Given the description of an element on the screen output the (x, y) to click on. 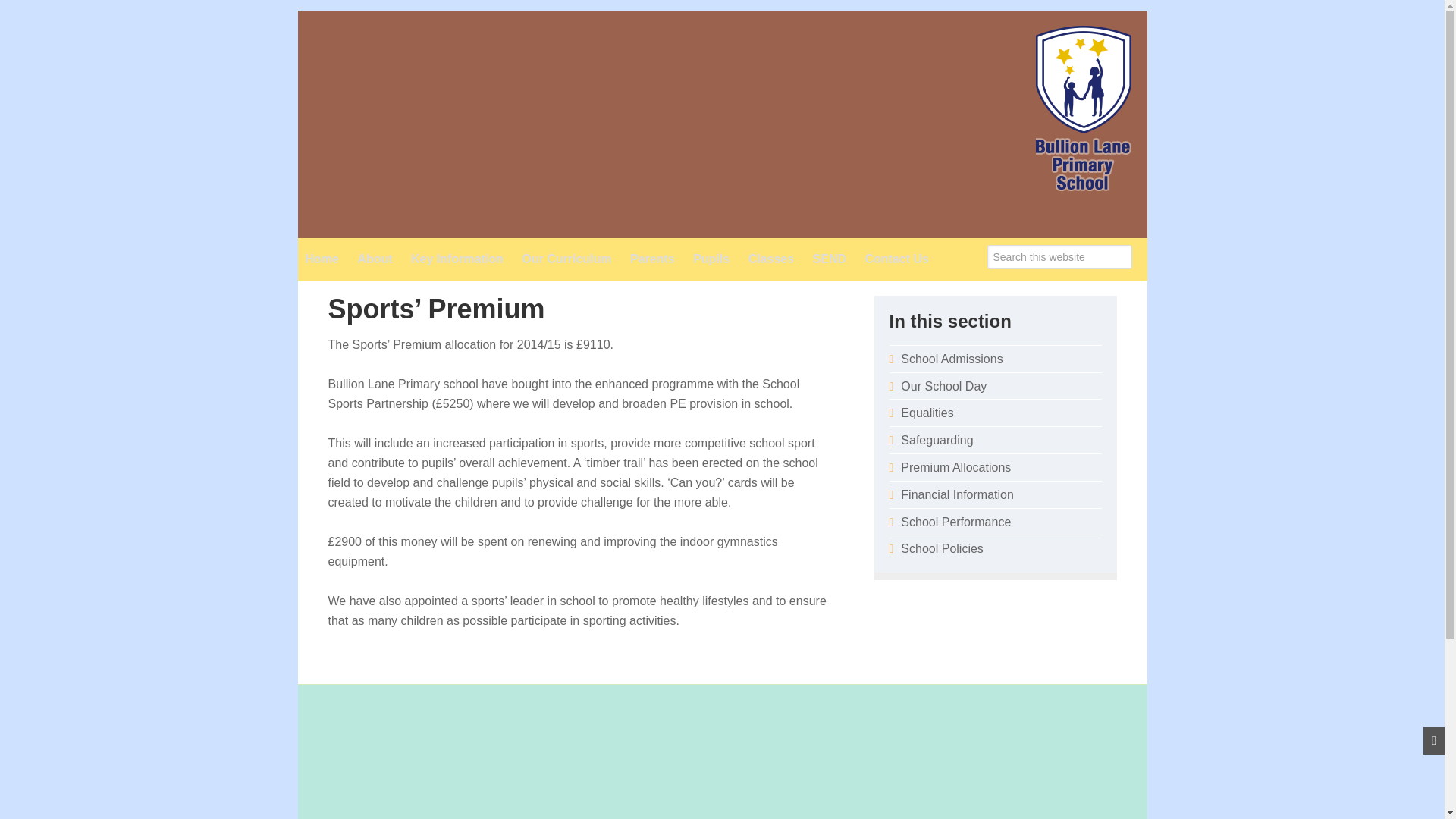
Home (321, 259)
Key Information (457, 259)
Classes (771, 259)
Pupils (710, 259)
Our Curriculum (565, 259)
About (373, 259)
SEND (829, 259)
Parents (652, 259)
